Given the description of an element on the screen output the (x, y) to click on. 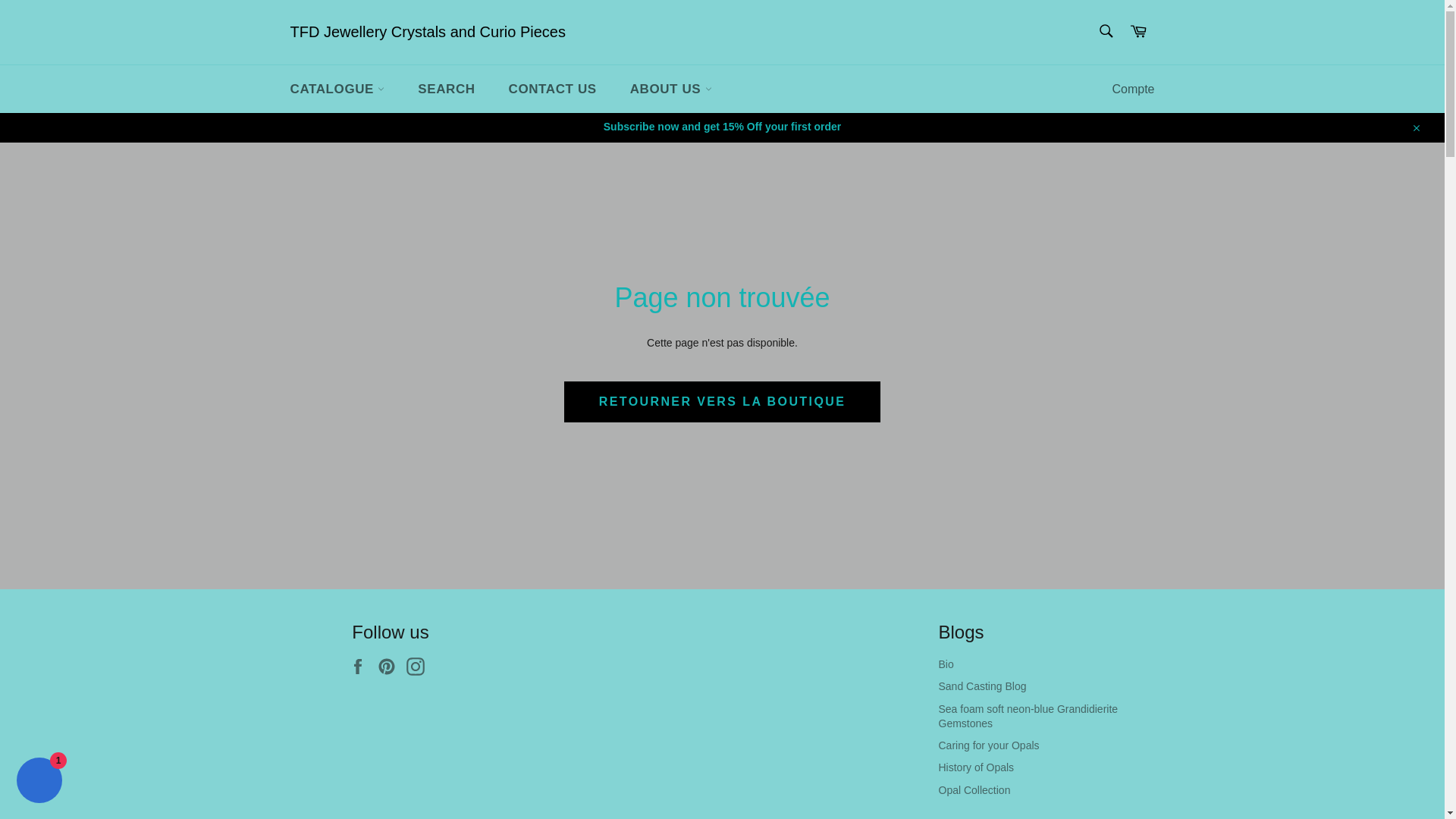
CONTACT US (552, 89)
ABOUT US (670, 89)
Recherche (1104, 30)
TFD Jewellery Crystals and Curio Pieces (426, 32)
SEARCH (446, 89)
TFD Jewellery Crystals and Curio Pieces sur Pinterest (390, 666)
TFD Jewellery Crystals and Curio Pieces sur Facebook (361, 666)
Panier (1138, 32)
Compte (1132, 89)
CATALOGUE (336, 89)
TFD Jewellery Crystals and Curio Pieces sur Instagram (419, 666)
Chat de la boutique en ligne Shopify (38, 781)
